Given the description of an element on the screen output the (x, y) to click on. 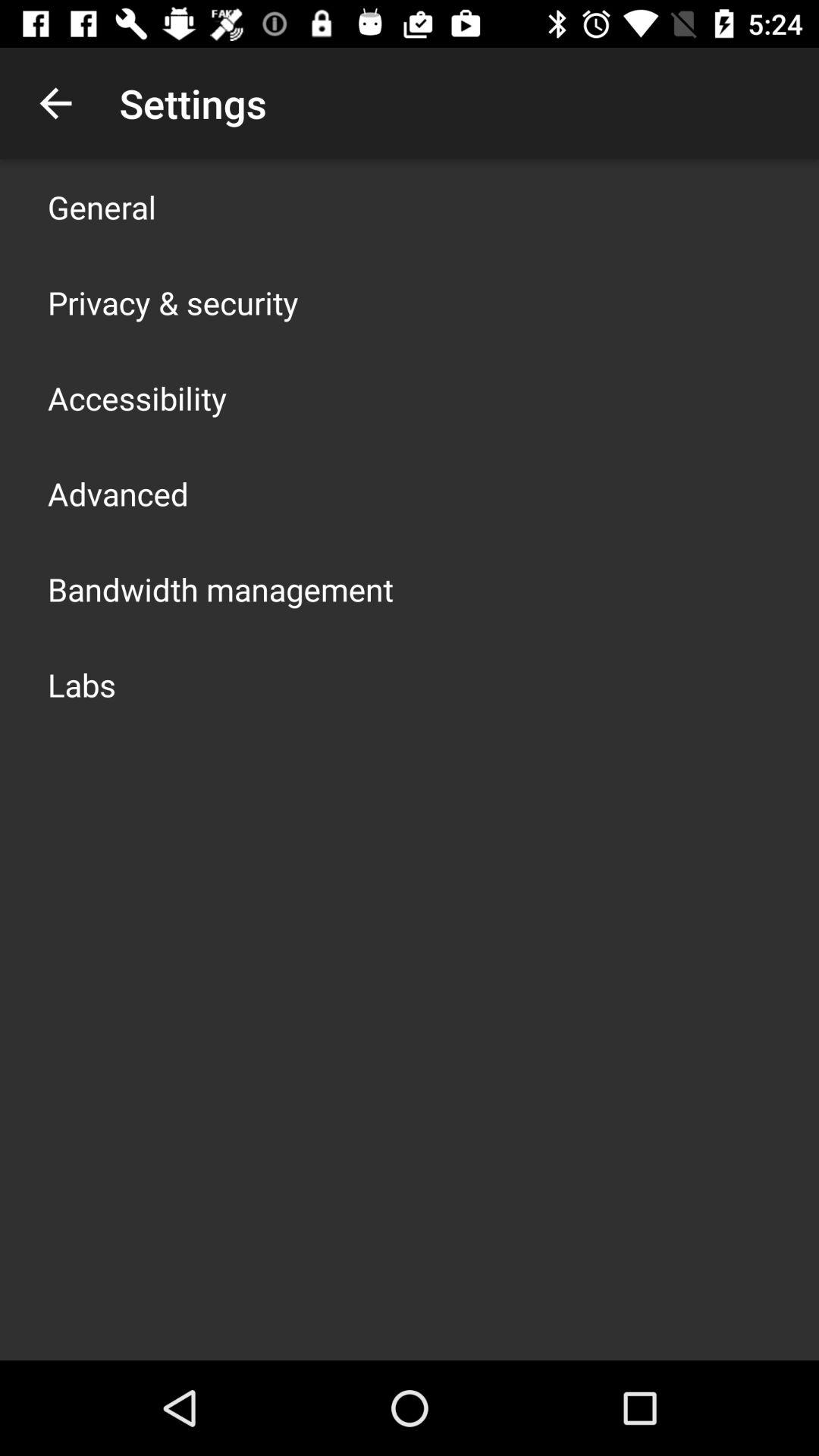
scroll until the labs icon (81, 684)
